Given the description of an element on the screen output the (x, y) to click on. 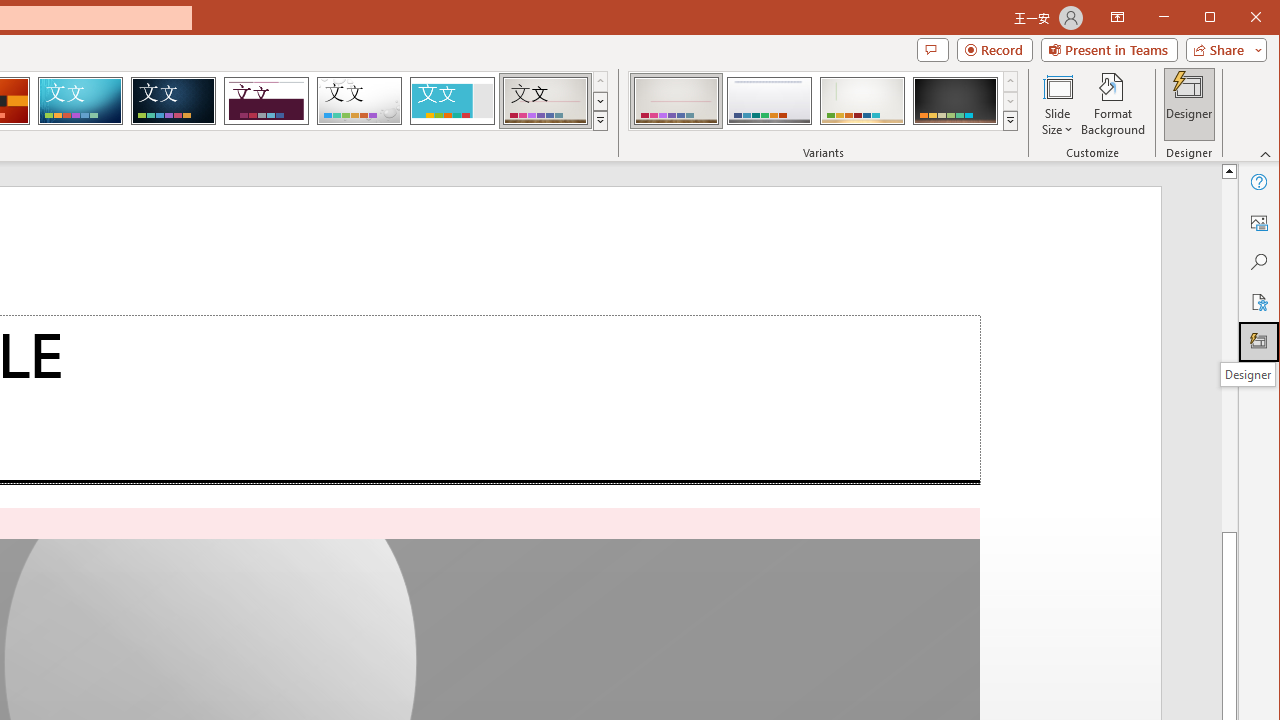
Themes (600, 120)
Slide Size (1057, 104)
Gallery (545, 100)
Damask (173, 100)
Alt Text (1258, 221)
Dividend (266, 100)
Gallery Variant 4 (955, 100)
Droplet (359, 100)
